Given the description of an element on the screen output the (x, y) to click on. 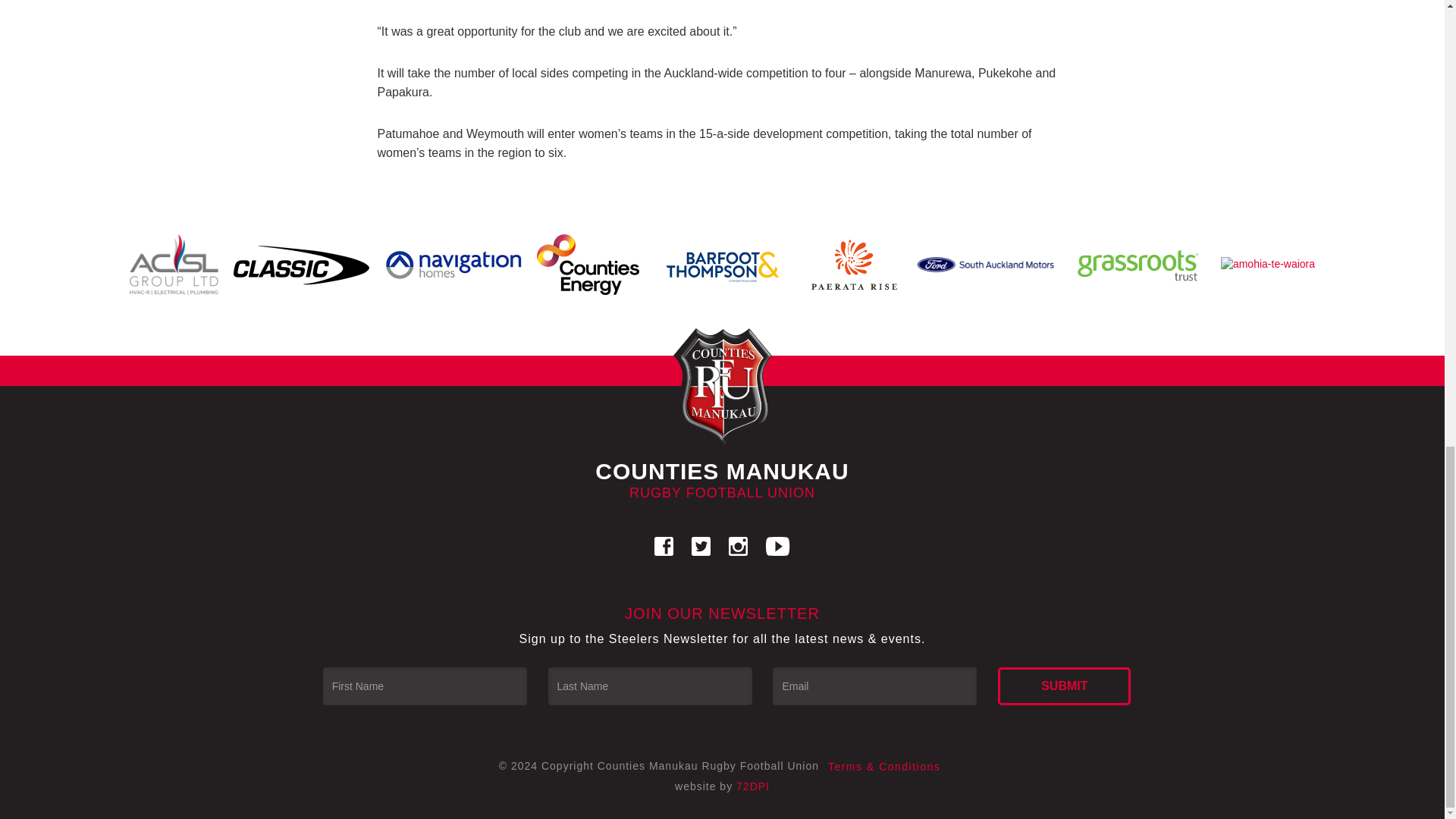
amohia-te-waiora (1267, 264)
Counties Power (587, 264)
Classic Sportsware (301, 265)
Navigational Homes (453, 264)
Grassroots Trust (1136, 264)
South Auckland Motors (985, 263)
Paerata Rise (853, 264)
ACSL Group (173, 264)
